Given the description of an element on the screen output the (x, y) to click on. 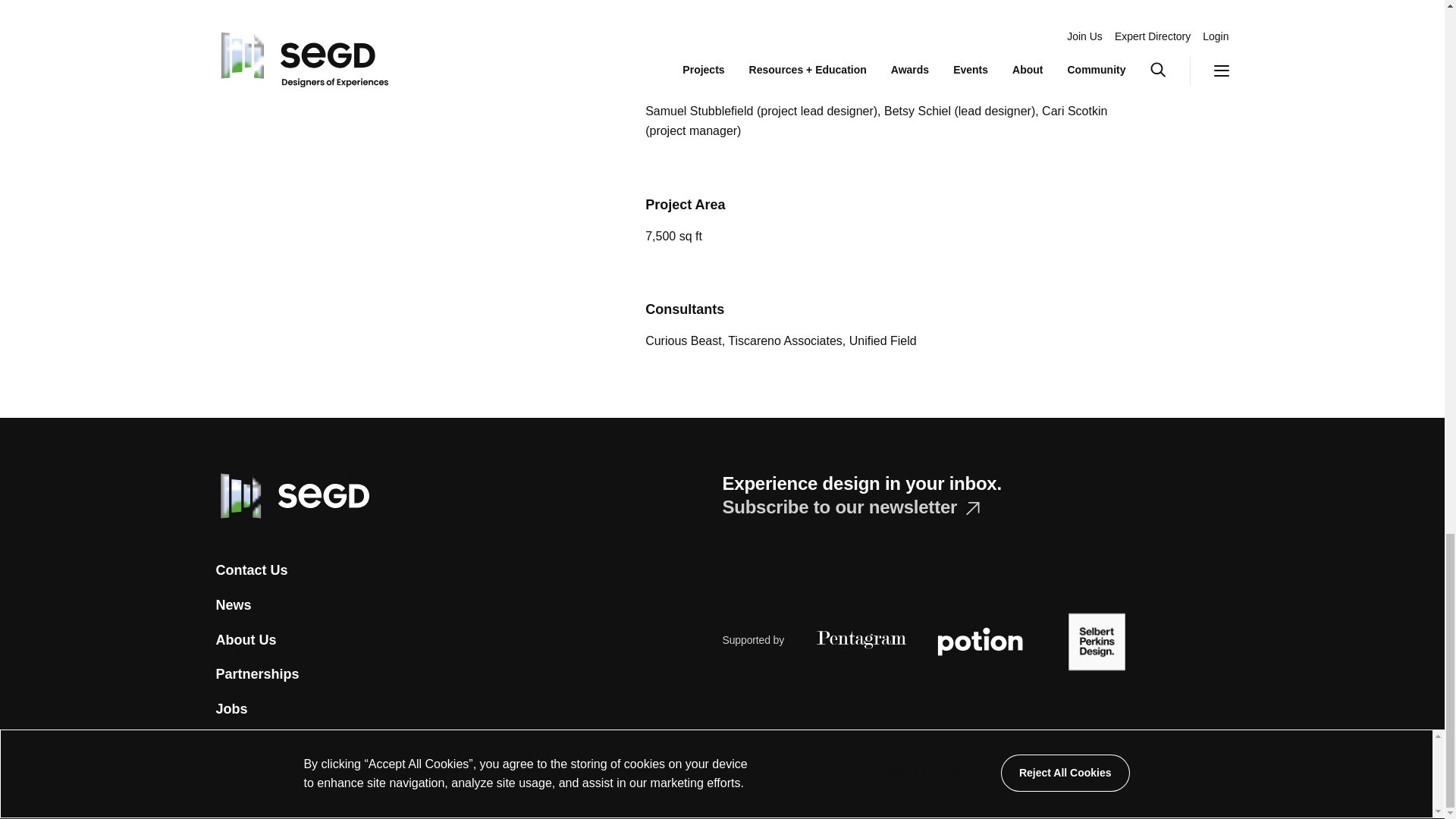
Link to twitter (222, 783)
Jobs (231, 709)
Subscribe to our newsletter (850, 506)
Contact Us (250, 570)
Society for Experiential Graphic Design logo (291, 495)
News (232, 605)
Partnerships (256, 674)
Link to pinterest (350, 786)
Link to vimeo (316, 786)
